Given the description of an element on the screen output the (x, y) to click on. 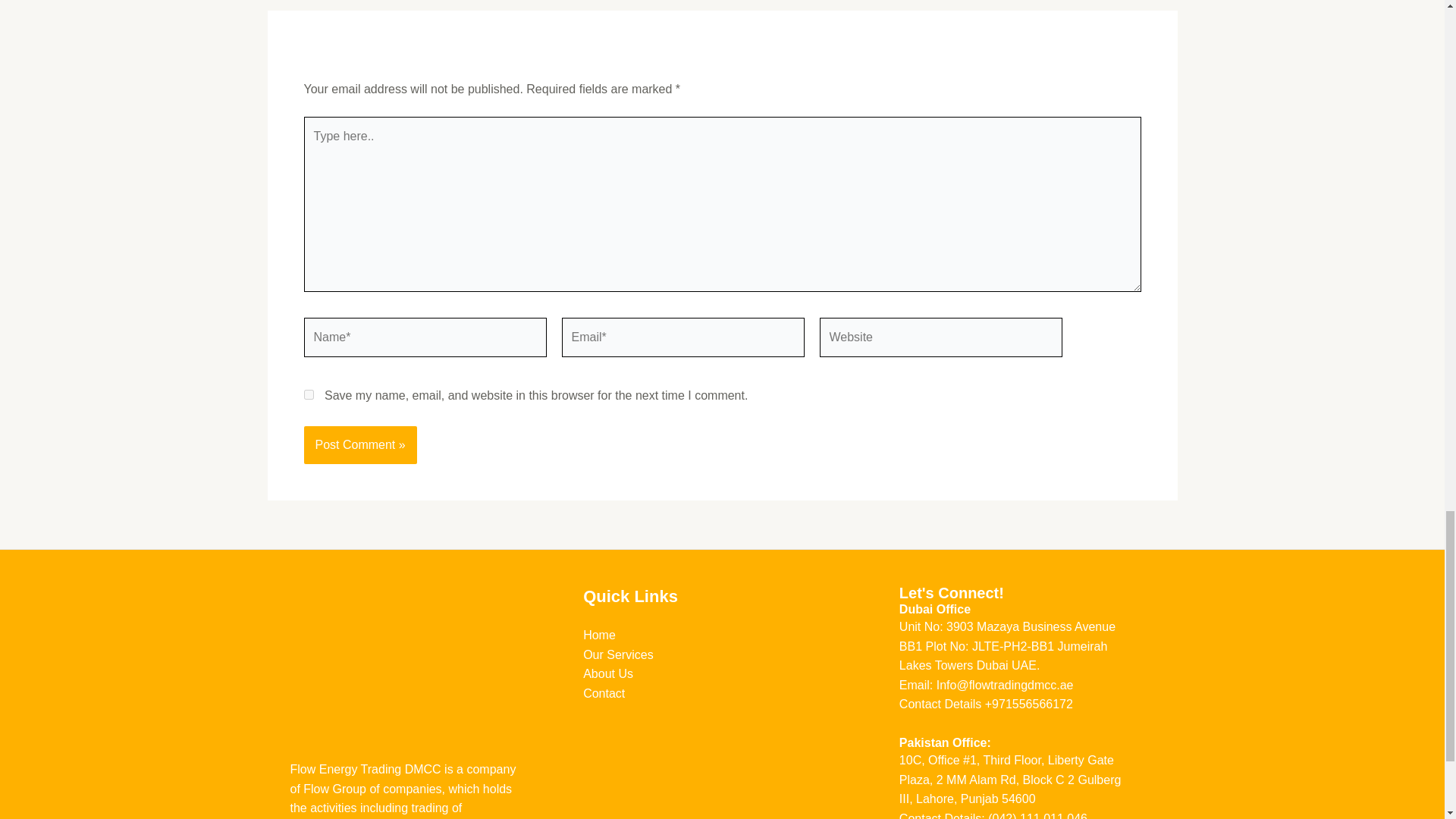
yes (307, 394)
Home (599, 634)
Our Services (617, 654)
About Us (608, 673)
Contact (603, 693)
